Given the description of an element on the screen output the (x, y) to click on. 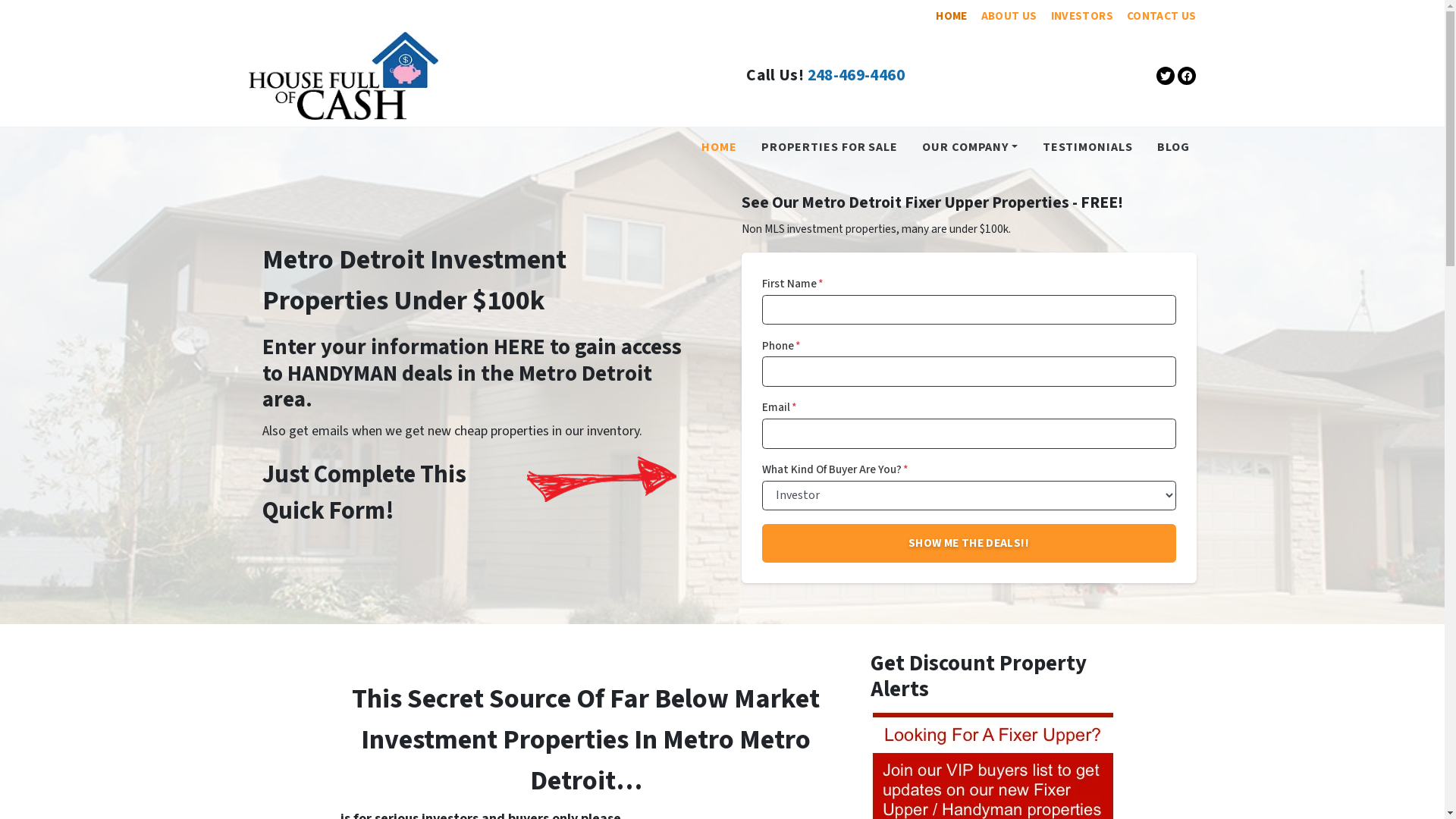
HOME Element type: text (718, 146)
ABOUT US Element type: text (1009, 15)
OUR COMPANY Element type: text (969, 146)
Facebook Element type: text (1186, 75)
TESTIMONIALS Element type: text (1087, 146)
BLOG Element type: text (1173, 146)
PROPERTIES FOR SALE Element type: text (829, 146)
INVESTORS Element type: text (1082, 15)
Show Me The Deals!!  Element type: text (968, 542)
Twitter Element type: text (1165, 75)
Arrow Right Element type: hover (600, 479)
HOME Element type: text (950, 15)
CONTACT US Element type: text (1161, 15)
